Given the description of an element on the screen output the (x, y) to click on. 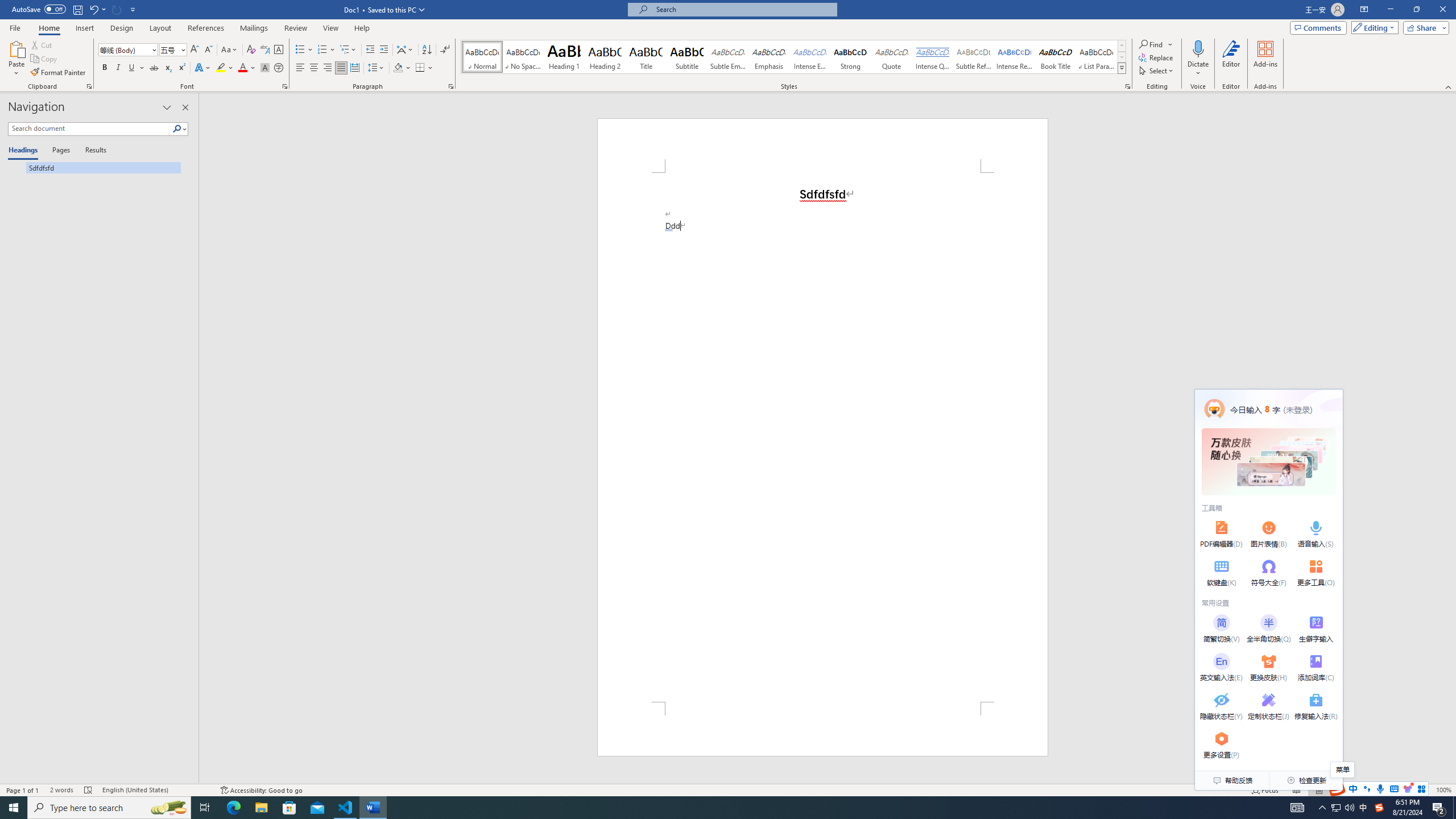
Zoom 100% (1443, 790)
